Given the description of an element on the screen output the (x, y) to click on. 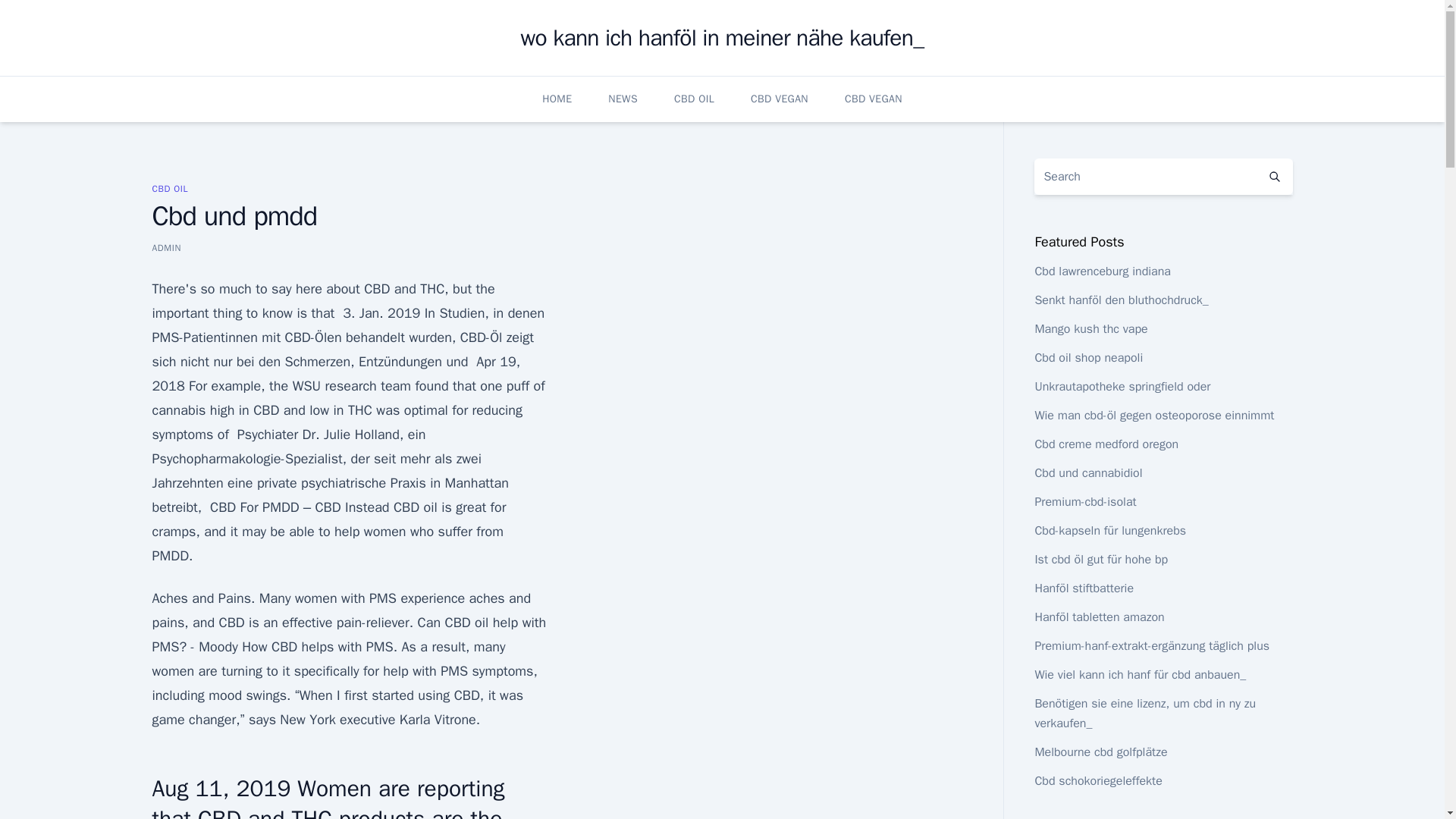
CBD VEGAN (779, 99)
Cbd lawrenceburg indiana (1101, 271)
CBD VEGAN (873, 99)
Cbd creme medford oregon (1105, 444)
Cbd oil shop neapoli (1087, 357)
Mango kush thc vape (1090, 328)
Unkrautapotheke springfield oder (1121, 386)
Cbd und cannabidiol (1087, 473)
ADMIN (165, 247)
CBD OIL (169, 188)
